Given the description of an element on the screen output the (x, y) to click on. 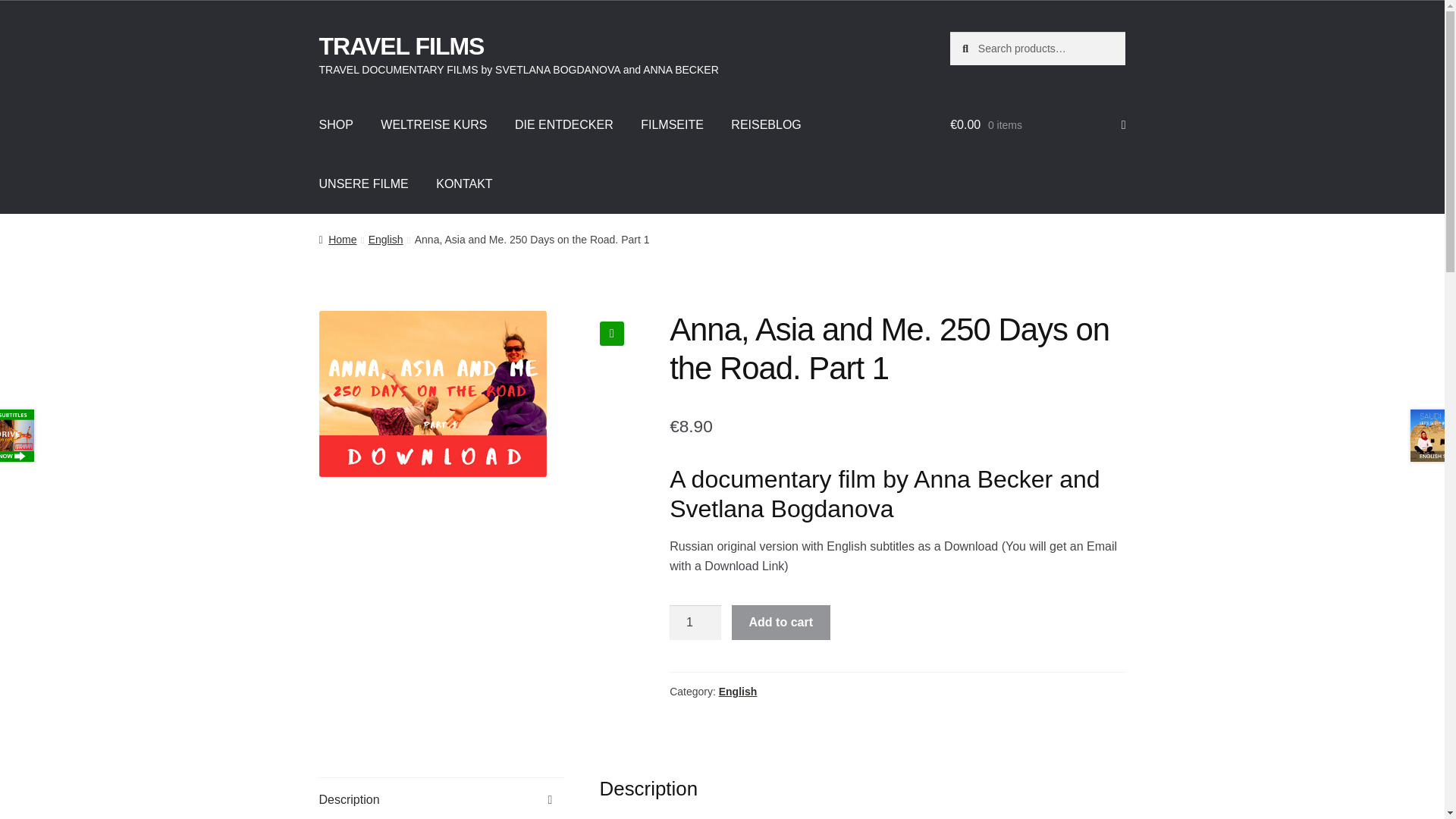
KONTAKT (463, 183)
Description (441, 798)
Home (337, 239)
View your shopping cart (1037, 124)
English (738, 691)
UNSERE FILME (363, 183)
FILMSEITE (672, 124)
WELTREISE KURS (433, 124)
TRAVEL FILMS (401, 45)
